Given the description of an element on the screen output the (x, y) to click on. 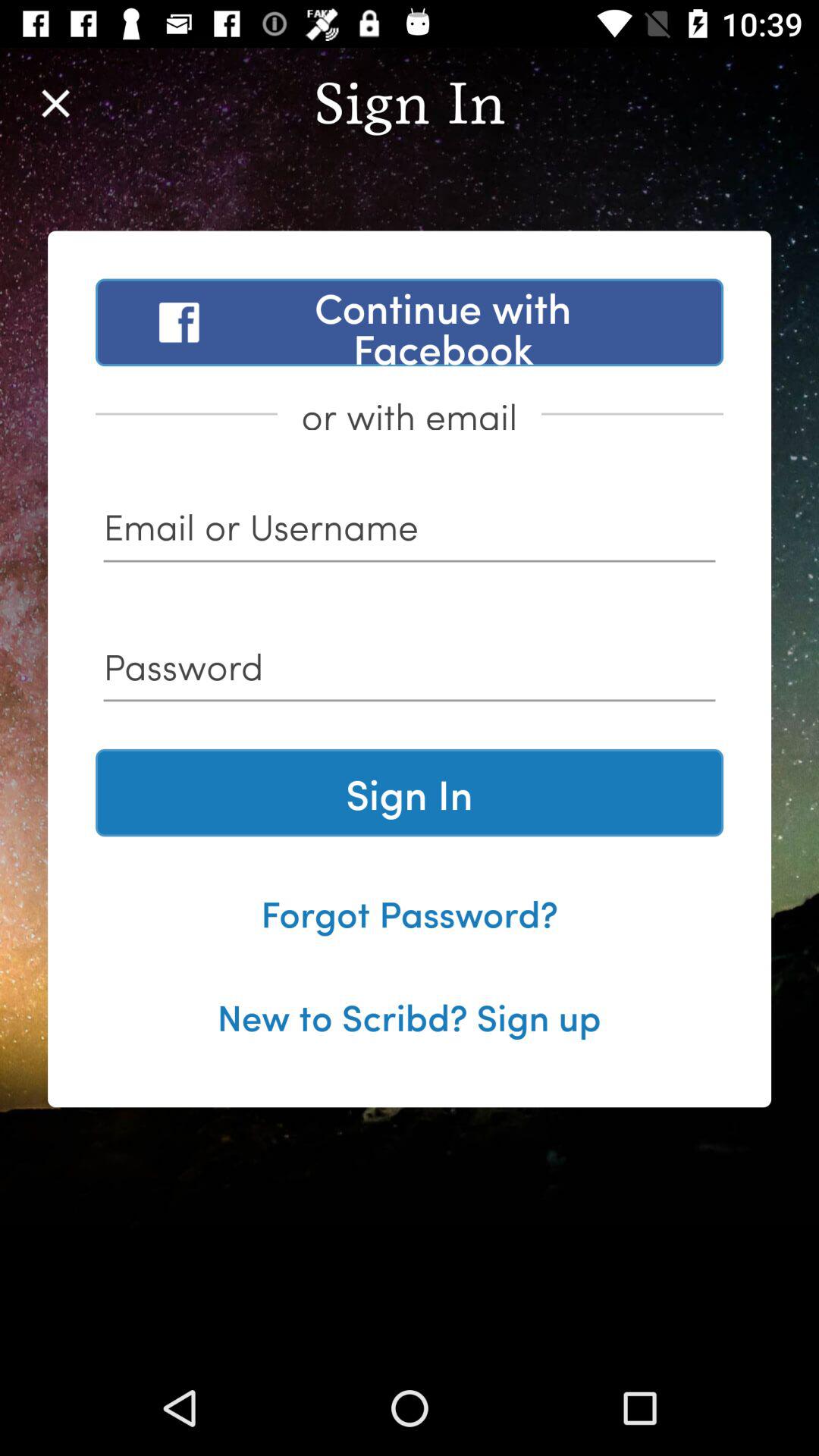
enter your password (409, 671)
